Given the description of an element on the screen output the (x, y) to click on. 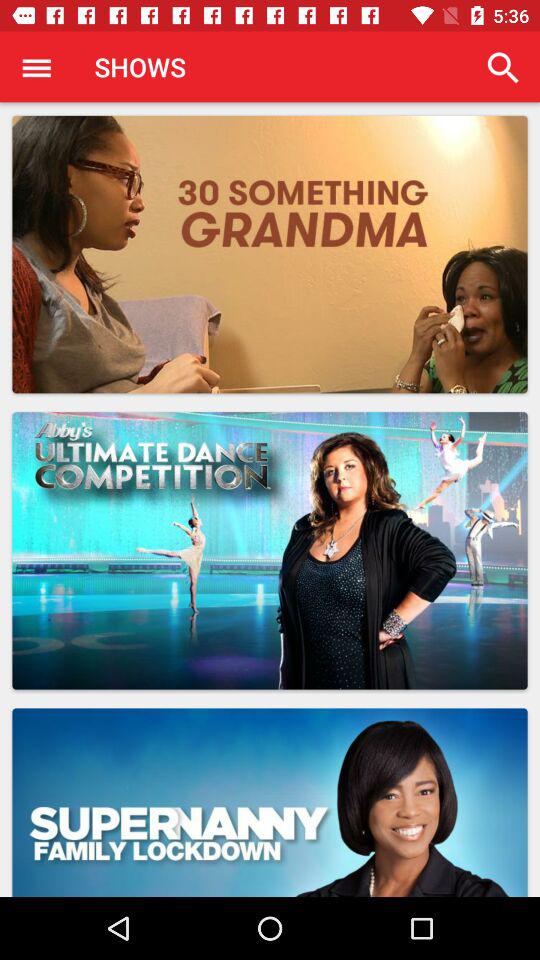
launch icon next to the shows item (503, 67)
